Given the description of an element on the screen output the (x, y) to click on. 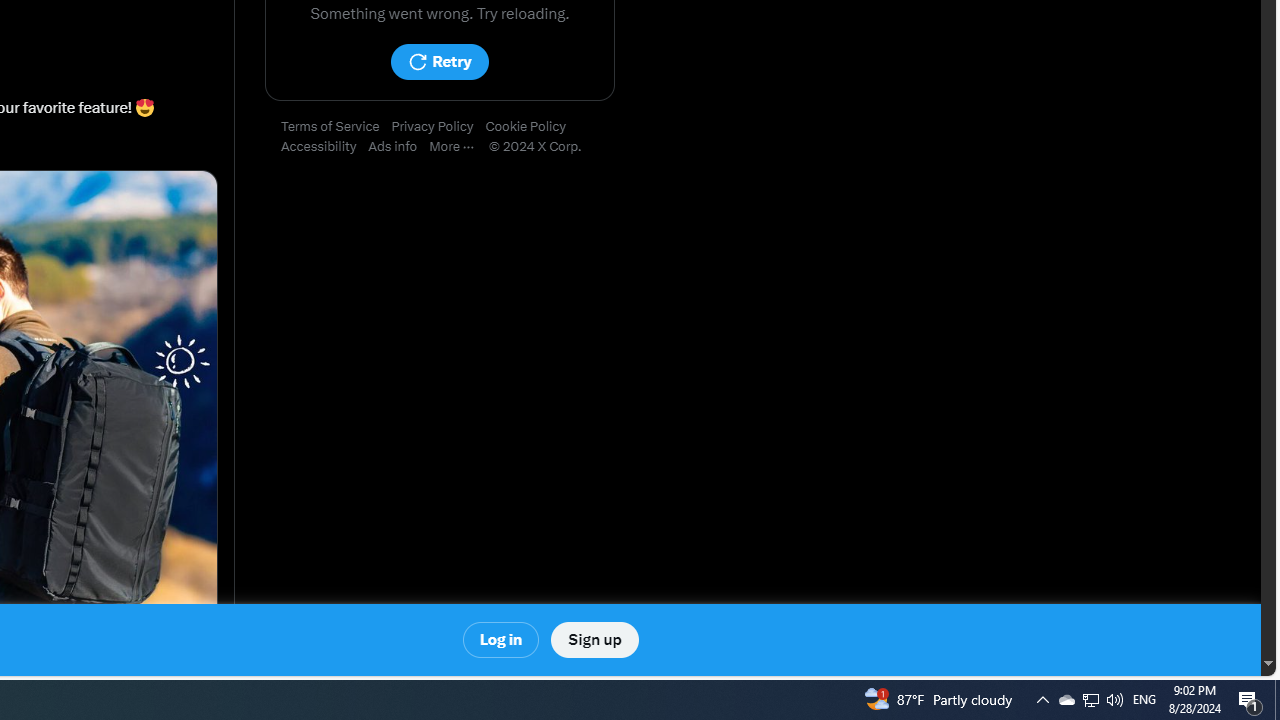
Accessibility (324, 147)
Cookie Policy (531, 127)
Ads info (399, 147)
Log in (501, 640)
Privacy Policy (438, 127)
Sign up (594, 640)
Terms of Service (336, 127)
More (458, 147)
Retry (439, 61)
